Given the description of an element on the screen output the (x, y) to click on. 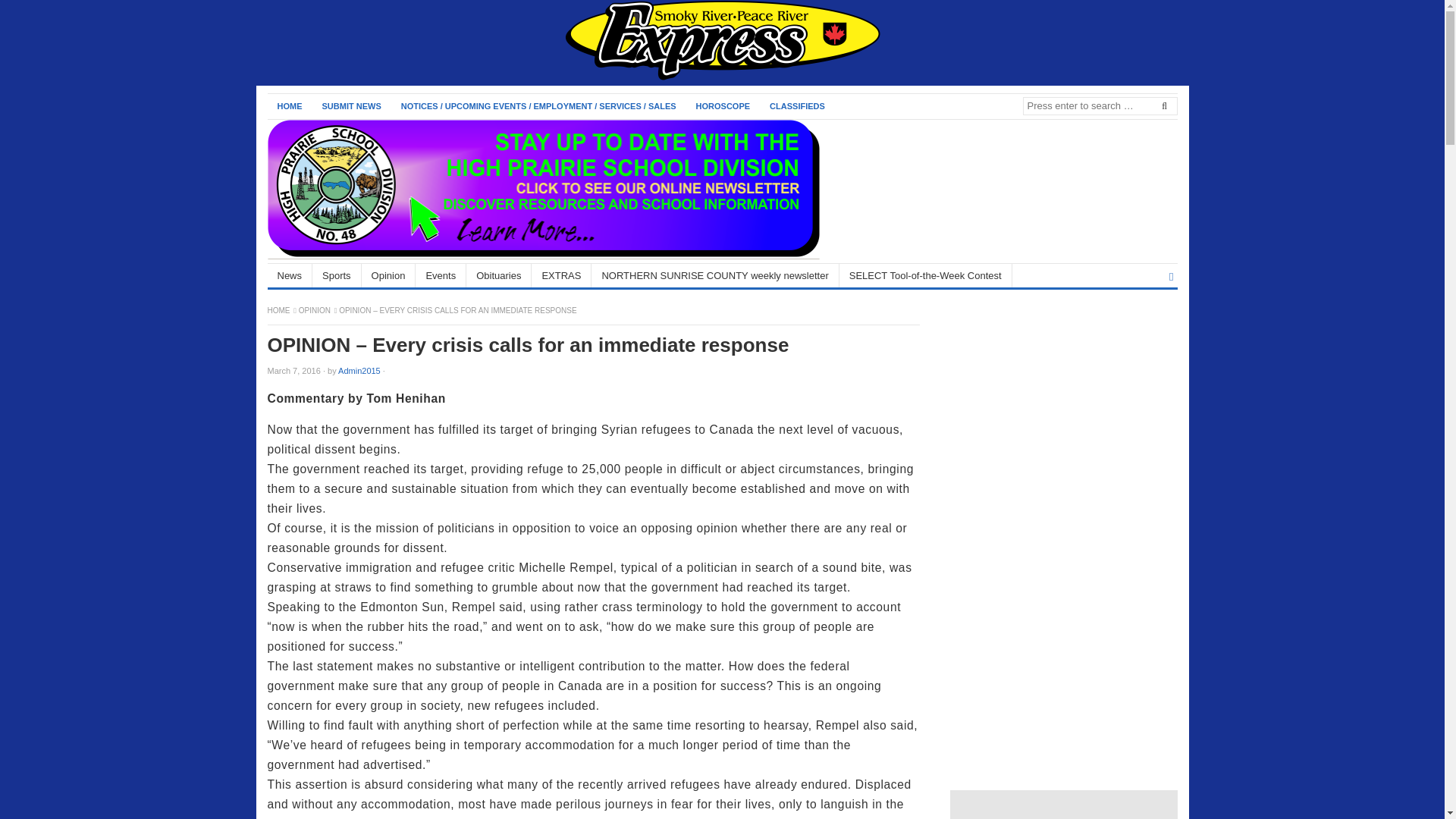
Admin2015 (358, 370)
CLASSIFIEDS (797, 106)
Events (439, 275)
HOME (278, 310)
Obituaries (498, 275)
OPINION (314, 310)
SELECT Tool-of-the-Week Contest (925, 275)
HOROSCOPE (722, 106)
HOME (288, 106)
SUBMIT NEWS (352, 106)
